Given the description of an element on the screen output the (x, y) to click on. 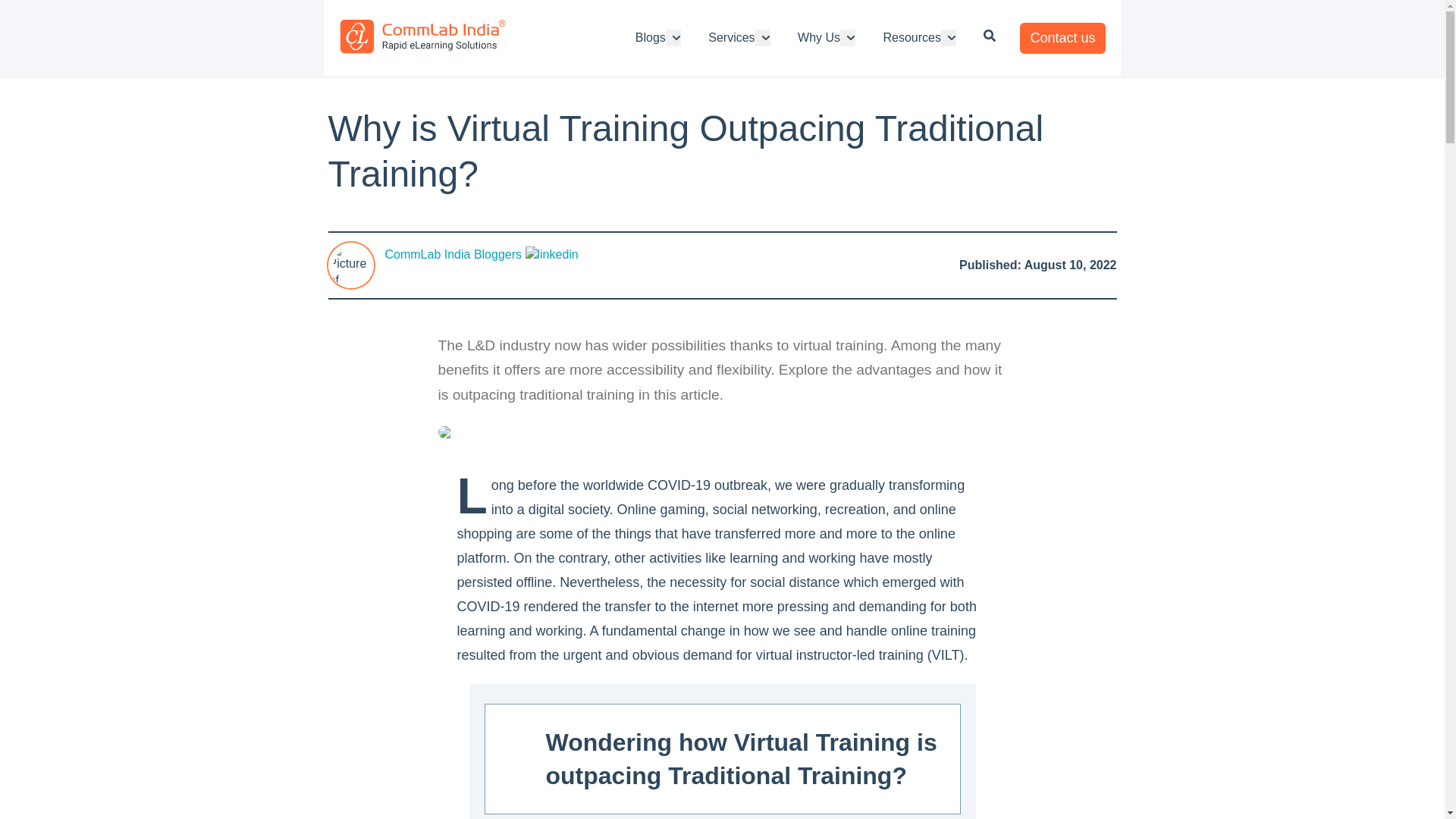
Resources (911, 37)
Blogs (649, 37)
Why Us (818, 37)
Show submenu for Why Us (848, 37)
Show submenu for Services (762, 37)
Show submenu for Resources (948, 37)
Show submenu for Blogs (673, 37)
Services (730, 37)
